Given the description of an element on the screen output the (x, y) to click on. 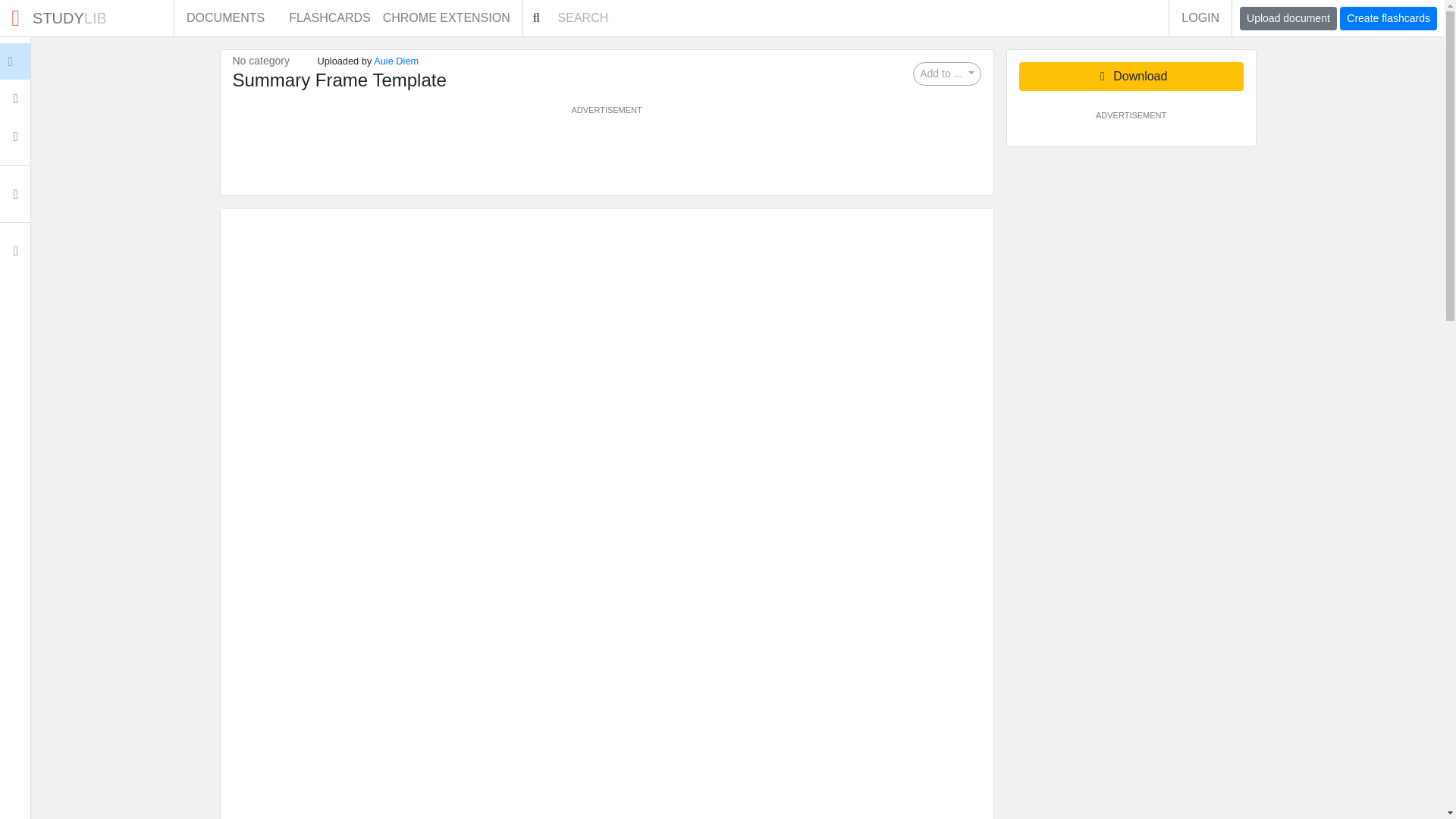
FLASHCARDS (329, 18)
Upload document (86, 18)
LOGIN (1288, 18)
Profile (1200, 18)
Create flashcards (15, 250)
Flashcards (1388, 18)
CHROME EXTENSION (15, 98)
Auie Diem (452, 18)
Collections (396, 60)
Add to ... (15, 136)
Login (946, 73)
DOCUMENTS (45, 61)
